Given the description of an element on the screen output the (x, y) to click on. 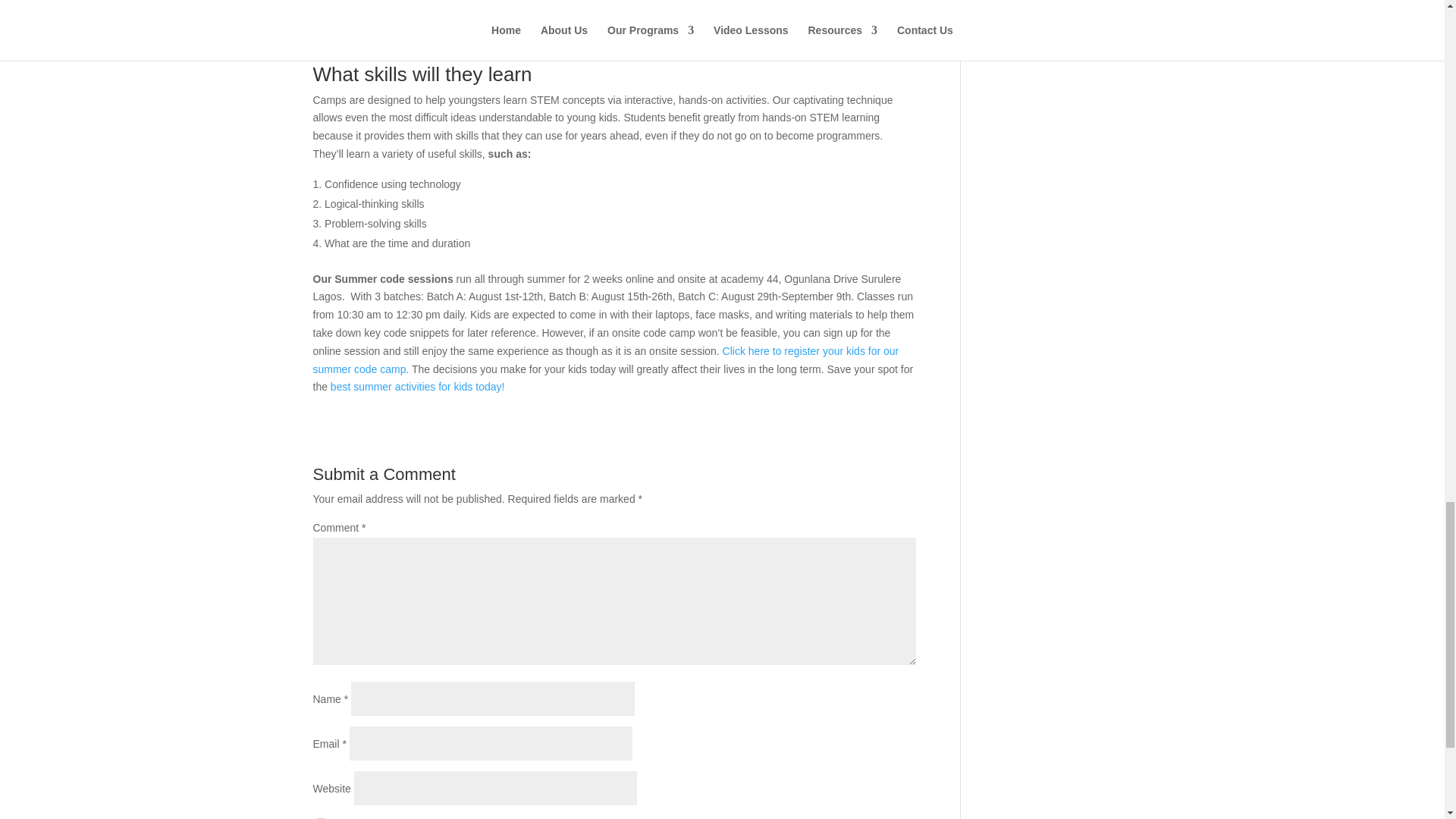
Click here to register your kids for our summer code camp. (605, 359)
best summer activities for kids today! (417, 386)
